Given the description of an element on the screen output the (x, y) to click on. 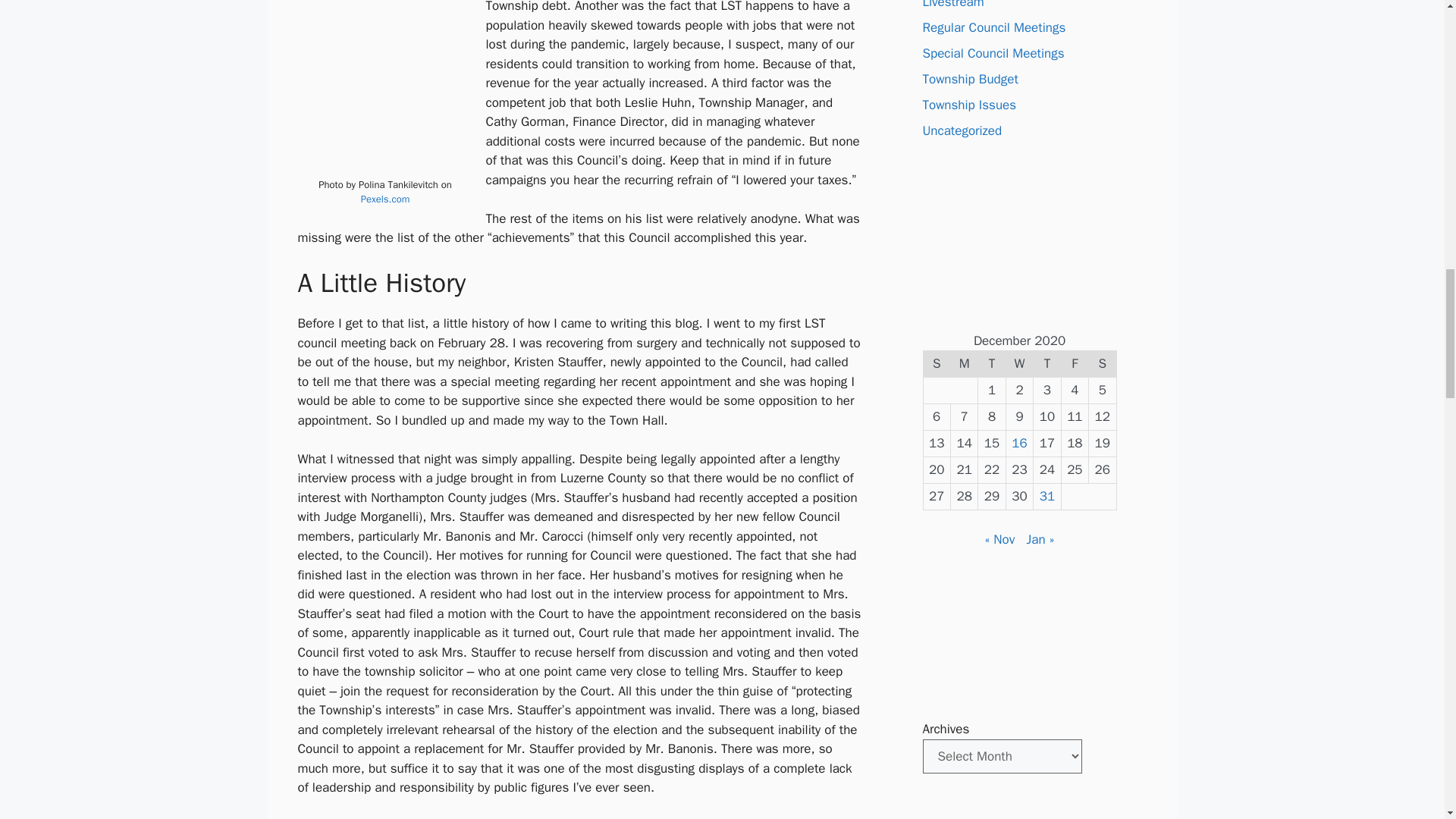
Tuesday (992, 364)
Special Council Meetings (992, 53)
Regular Council Meetings (993, 27)
Wednesday (1019, 364)
Saturday (1102, 364)
Friday (1074, 364)
Sunday (936, 364)
Thursday (1047, 364)
Monday (963, 364)
Pexels.com (385, 198)
Livestream (952, 4)
